Given the description of an element on the screen output the (x, y) to click on. 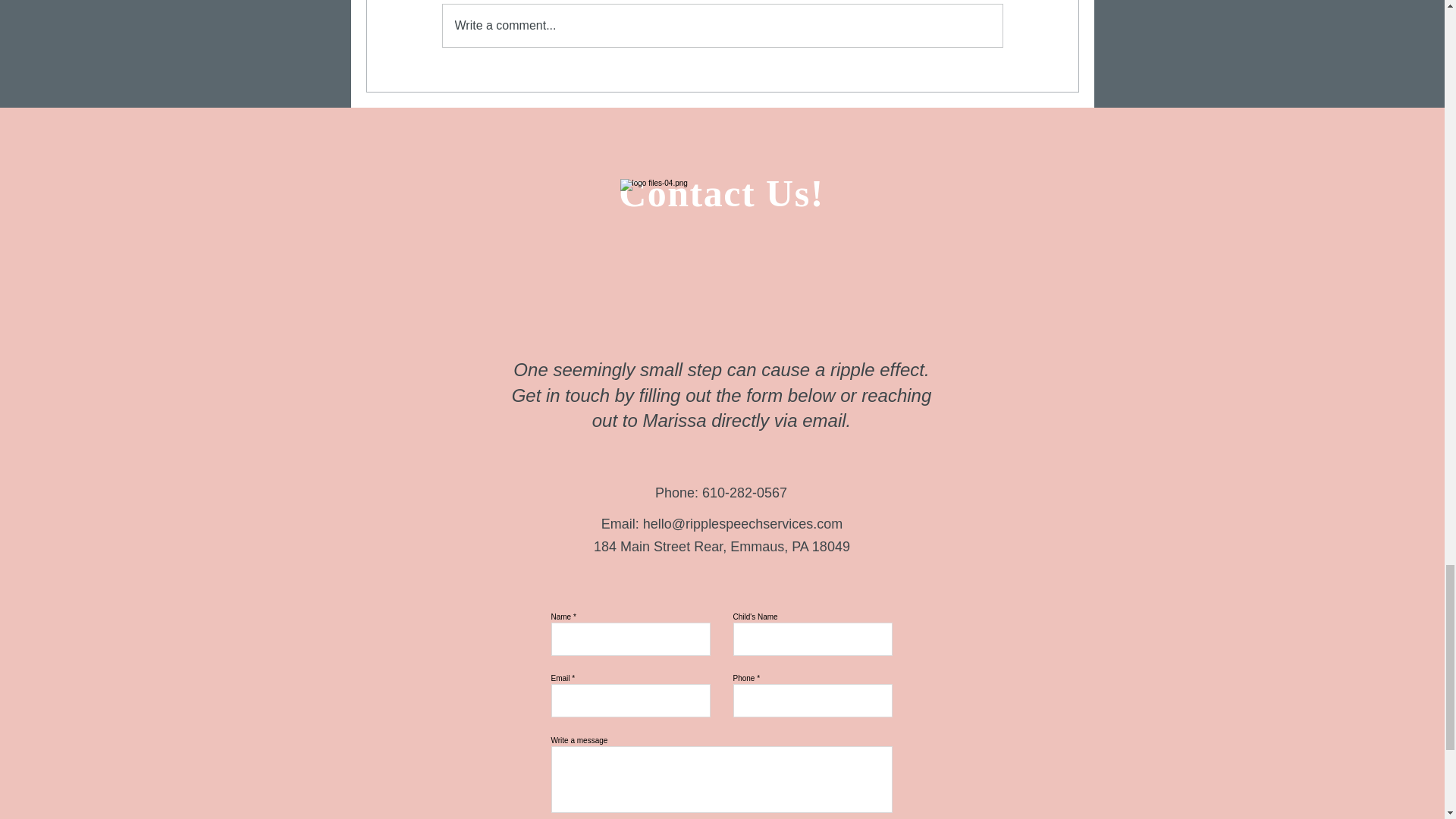
Write a comment... (722, 25)
Phone: (678, 492)
610-282-0567 (744, 492)
